Given the description of an element on the screen output the (x, y) to click on. 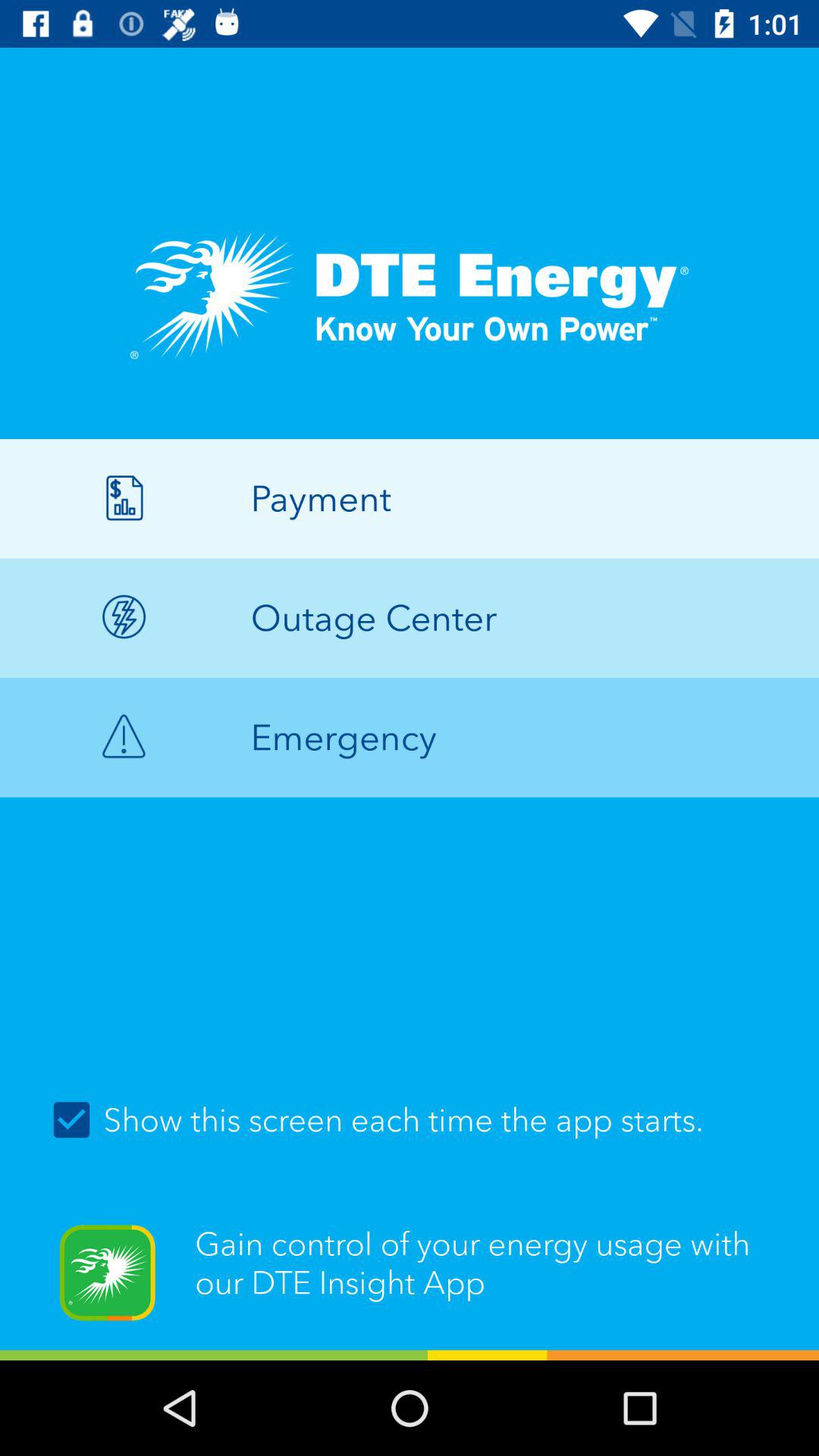
select icon above the outage center (409, 498)
